Given the description of an element on the screen output the (x, y) to click on. 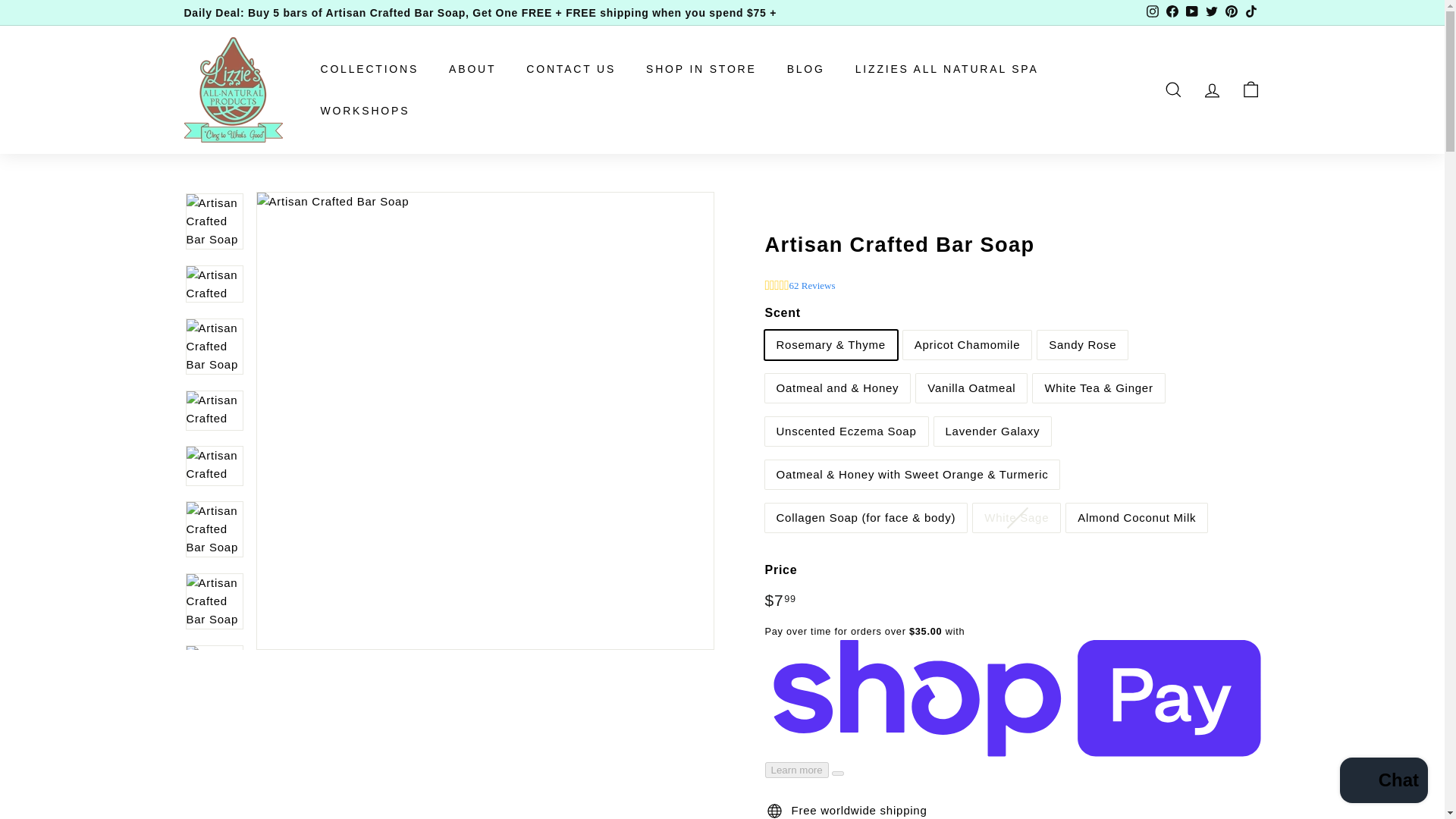
LIZZIES ALL NATURAL SPA (947, 68)
CONTACT US (570, 68)
SHOP IN STORE (700, 68)
Shopify online store chat (1383, 781)
WORKSHOPS (364, 109)
ABOUT (472, 68)
